Given the description of an element on the screen output the (x, y) to click on. 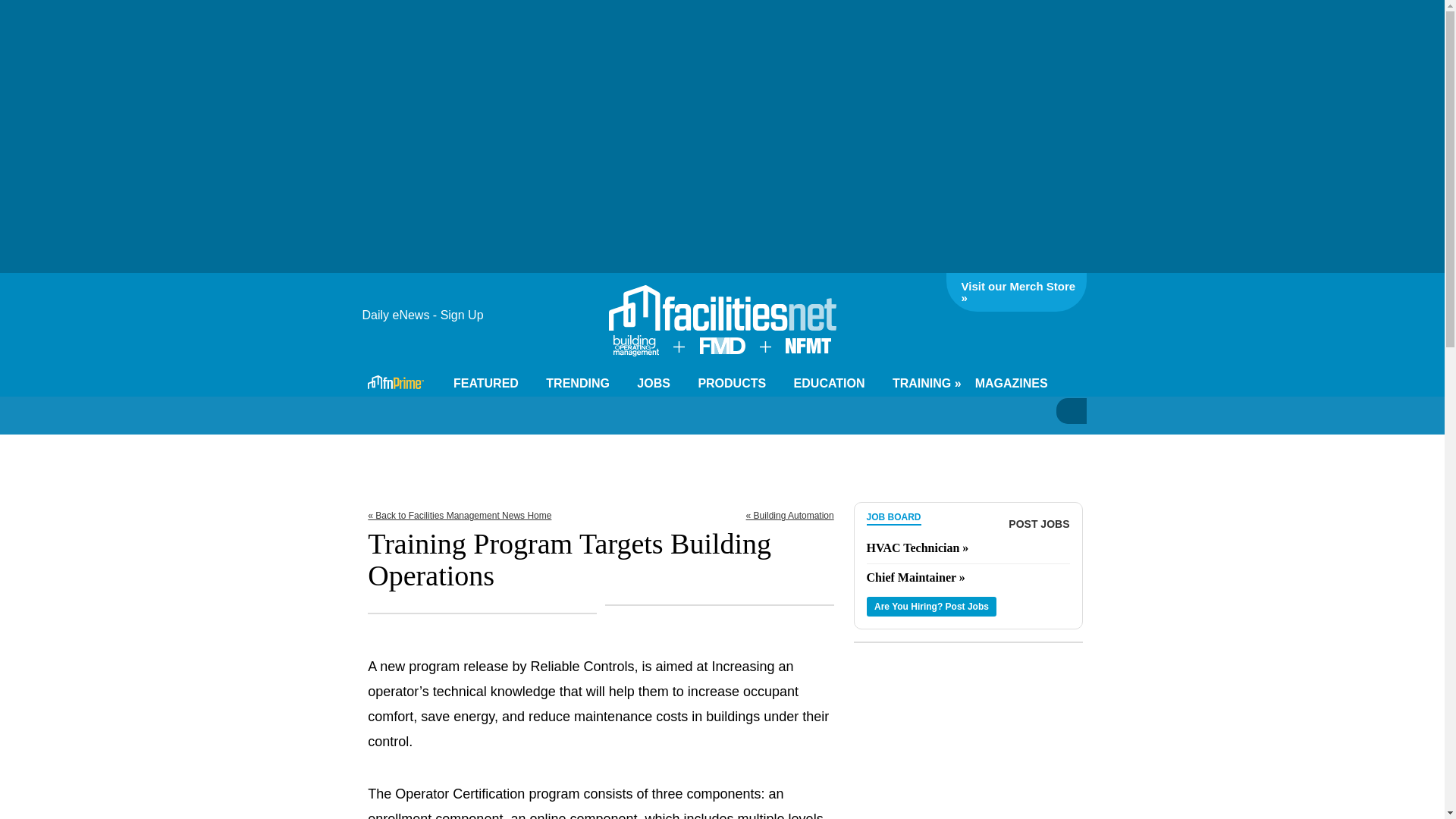
FMD (721, 349)
FacilitiesNet - Facilities Management News and Education (721, 308)
BOM (635, 351)
NFMT (808, 349)
Daily eNews - Sign Up (427, 314)
FEATURED (490, 383)
